Given the description of an element on the screen output the (x, y) to click on. 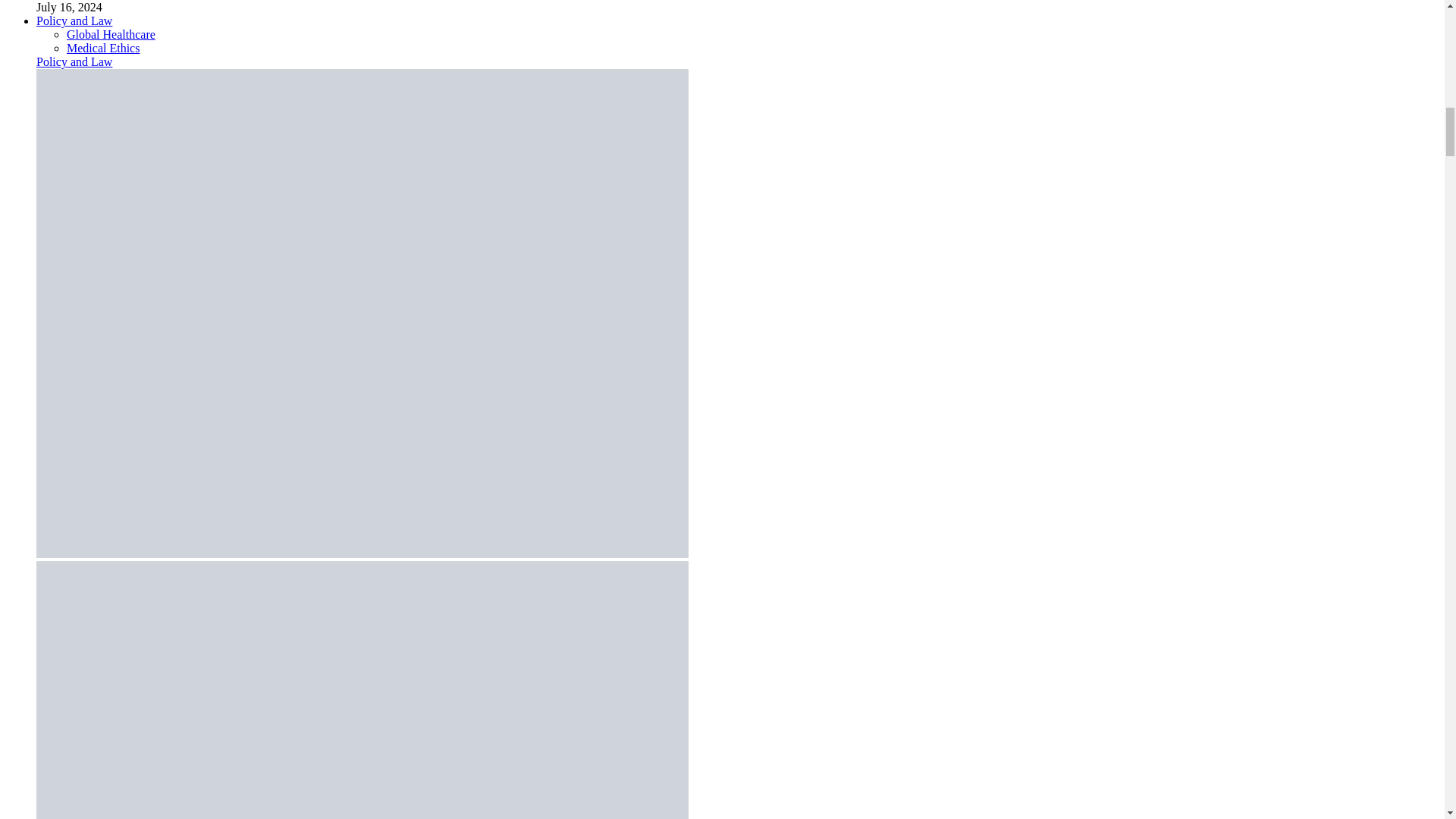
Global Healthcare (110, 33)
Policy and Law (74, 61)
Medical Ethics (102, 47)
Policy and Law (74, 20)
